Given the description of an element on the screen output the (x, y) to click on. 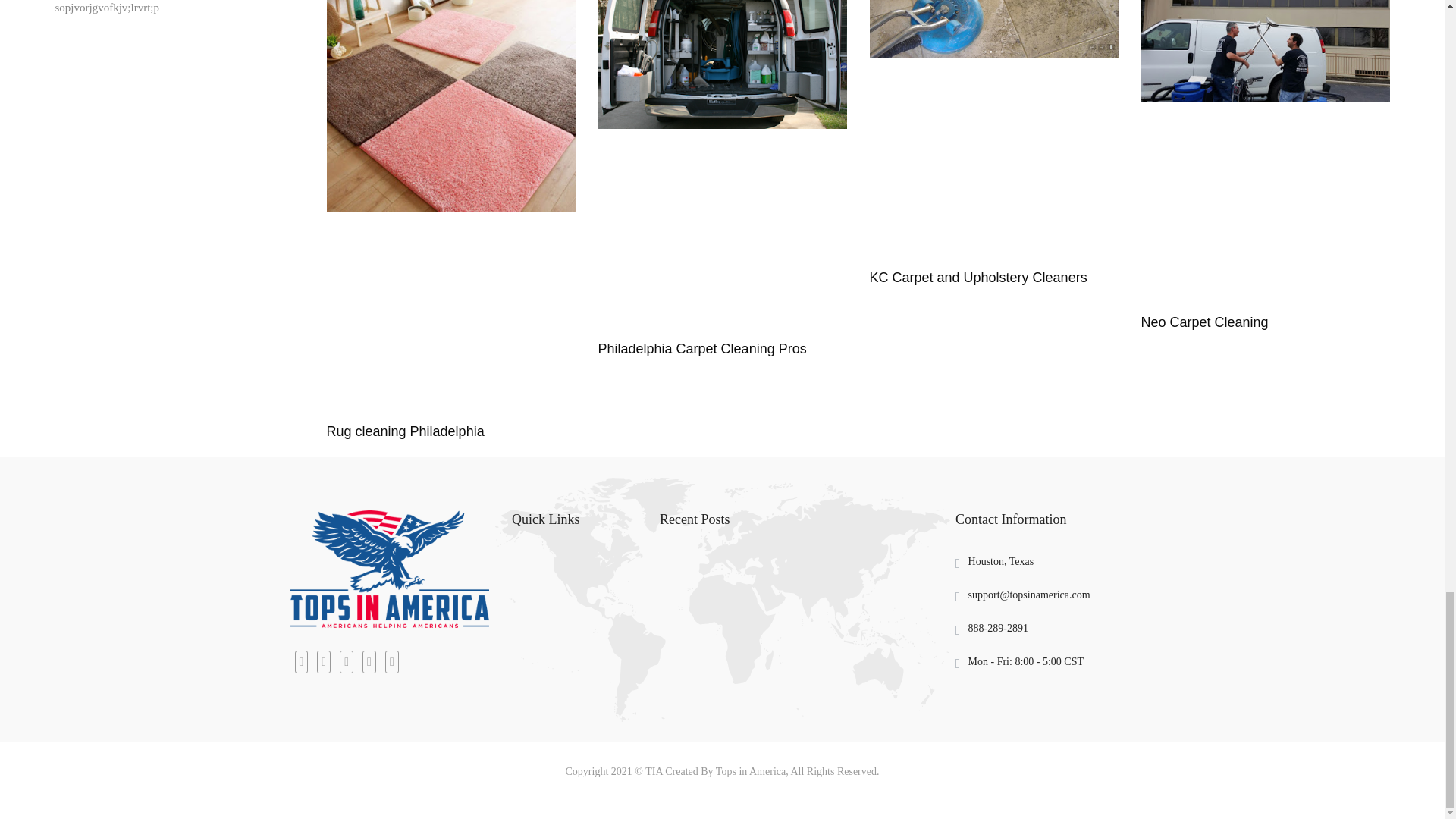
Philadelphia Carpet Cleaning Pros (701, 348)
KC Carpet and Upholstery Cleaners (977, 277)
Neo Carpet Cleaning (1204, 322)
Rug cleaning Philadelphia (404, 431)
